Given the description of an element on the screen output the (x, y) to click on. 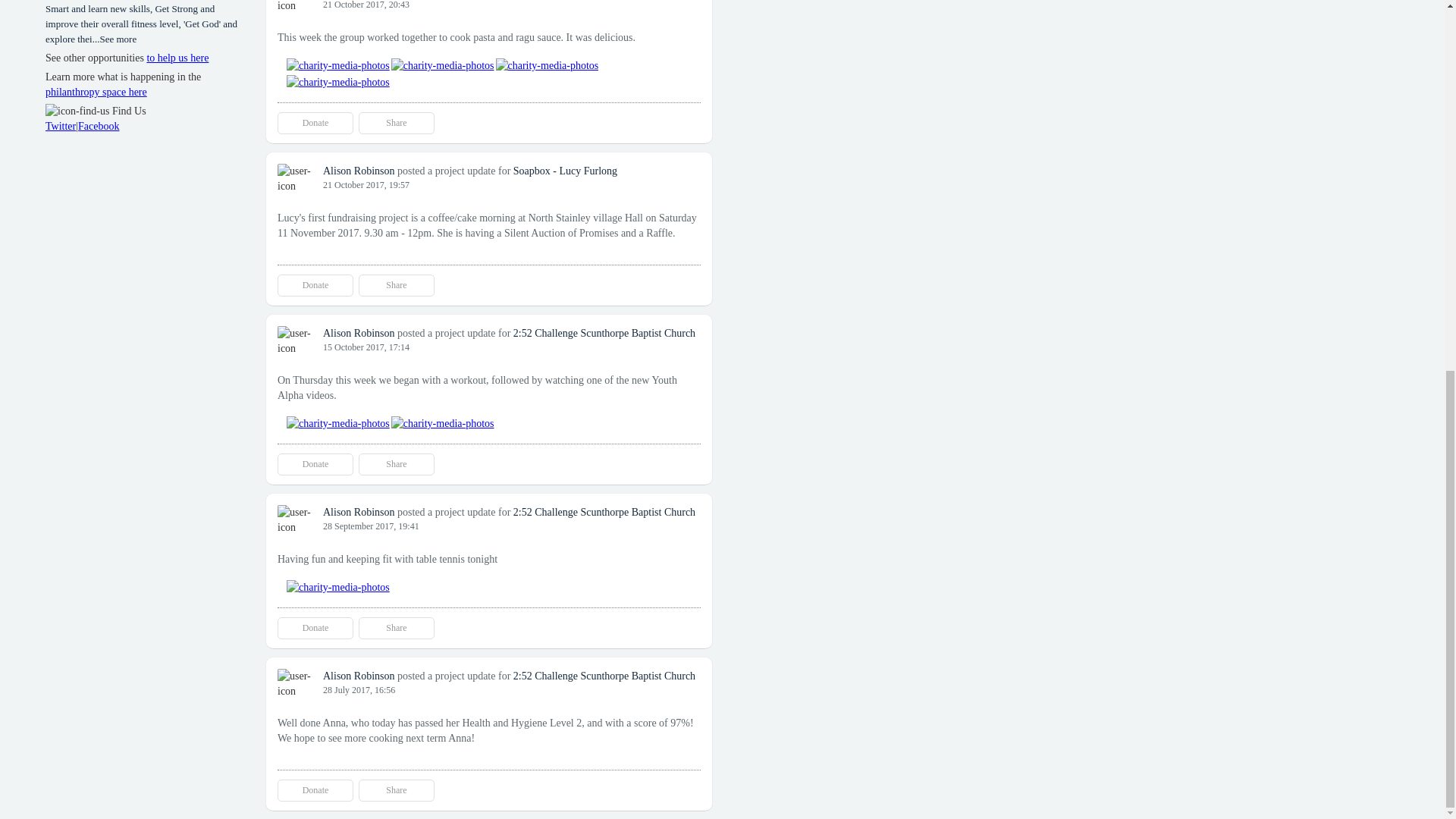
Donate (315, 123)
Share (395, 123)
Share (395, 628)
Donate (315, 285)
Share (395, 464)
See more (117, 39)
Share (395, 790)
Donate (315, 790)
to help us here (177, 57)
Donate (315, 628)
